Given the description of an element on the screen output the (x, y) to click on. 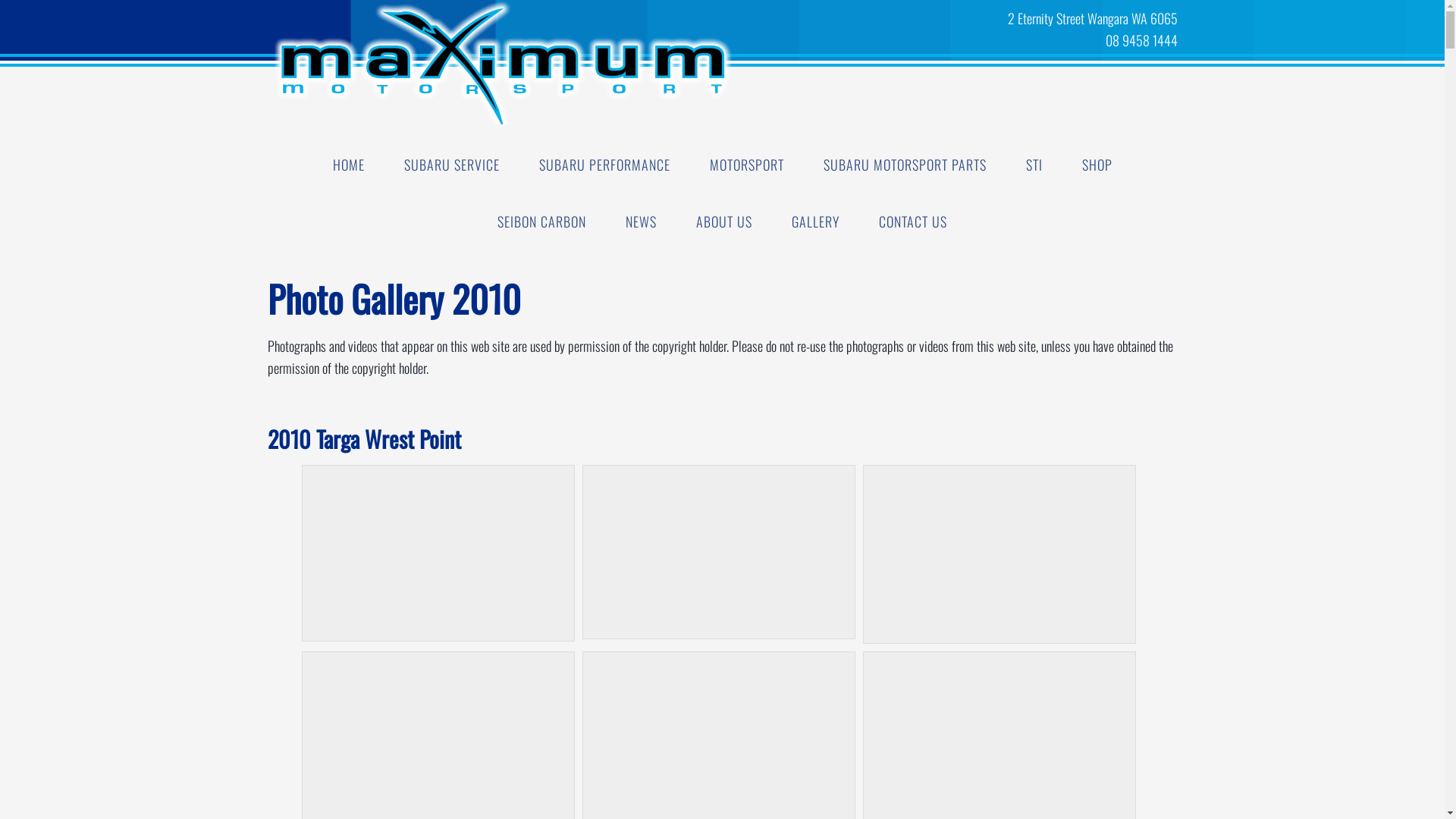
2 Eternity Street Wangara WA 6065 Element type: text (873, 18)
08 9458 1444 Element type: text (873, 40)
SUBARU PERFORMANCE Element type: text (603, 164)
GALLERY Element type: text (815, 221)
NEWS Element type: text (640, 221)
ABOUT US Element type: text (723, 221)
MOTORSPORT Element type: text (746, 164)
SHOP Element type: text (1096, 164)
MAXIMUM MOTORSPORT Element type: text (387, 62)
SEIBON CARBON Element type: text (541, 221)
HOME Element type: text (347, 164)
SUBARU MOTORSPORT PARTS Element type: text (904, 164)
STI Element type: text (1033, 164)
SUBARU SERVICE Element type: text (451, 164)
CONTACT US Element type: text (912, 221)
